Given the description of an element on the screen output the (x, y) to click on. 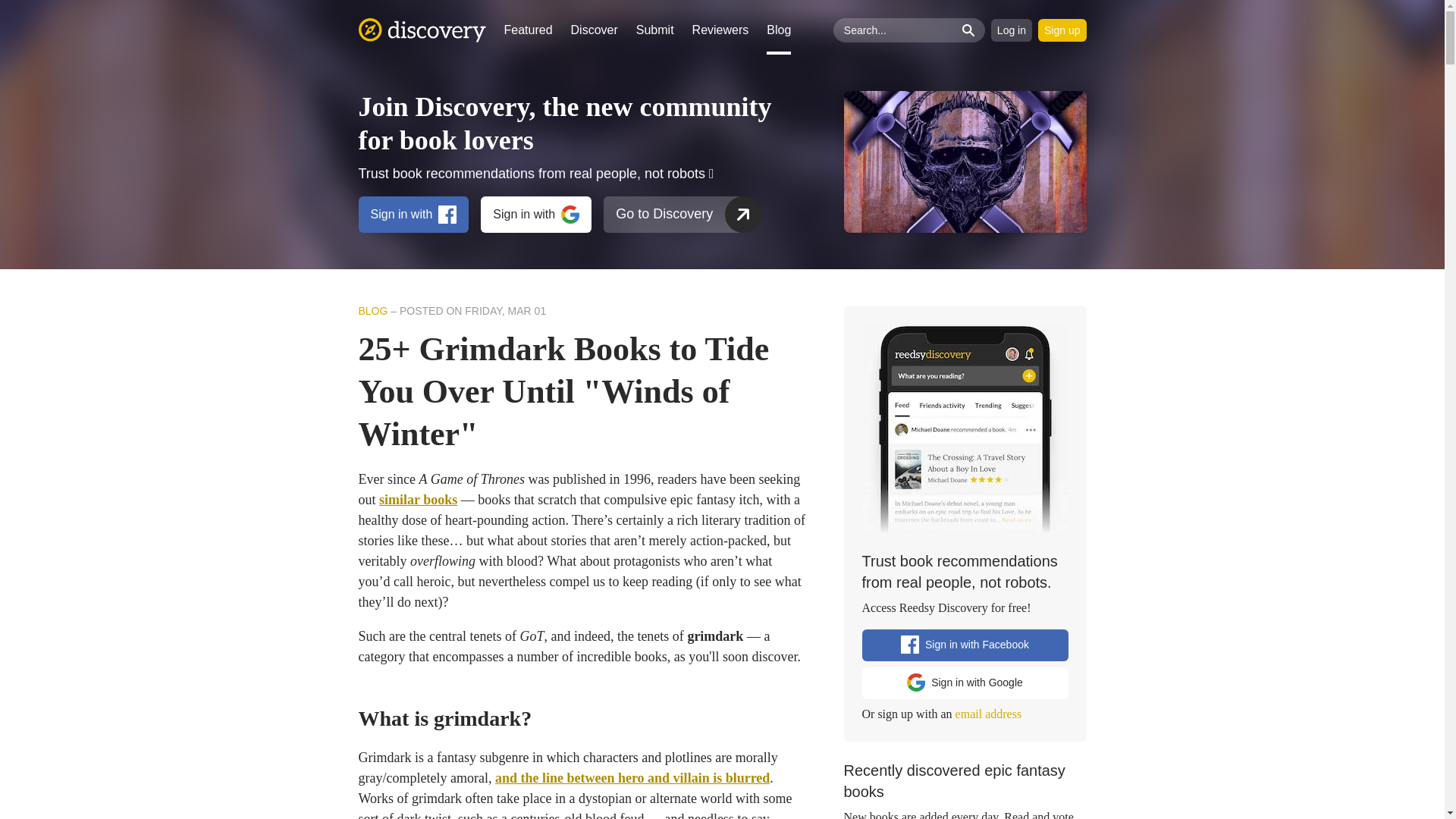
Home (421, 30)
Sign up (1062, 29)
BLOG (372, 310)
Featured (527, 29)
Discover (593, 29)
Sign in with (535, 214)
Log in (1011, 29)
Sign in with (413, 214)
Reviewers (721, 29)
Go to Discovery (673, 214)
similar books (417, 499)
and the line between hero and villain is blurred (632, 777)
